Given the description of an element on the screen output the (x, y) to click on. 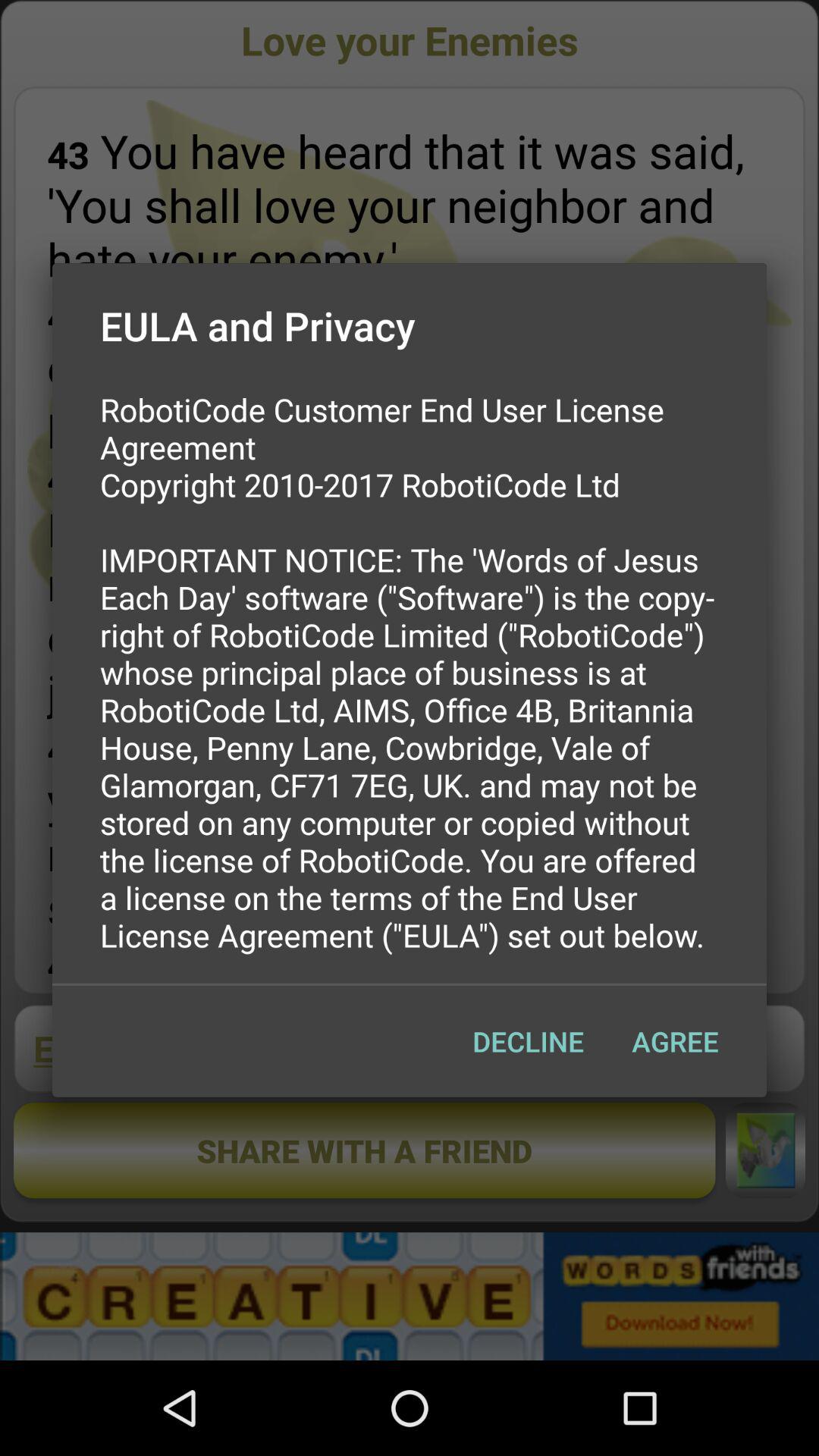
open agree icon (674, 1041)
